Given the description of an element on the screen output the (x, y) to click on. 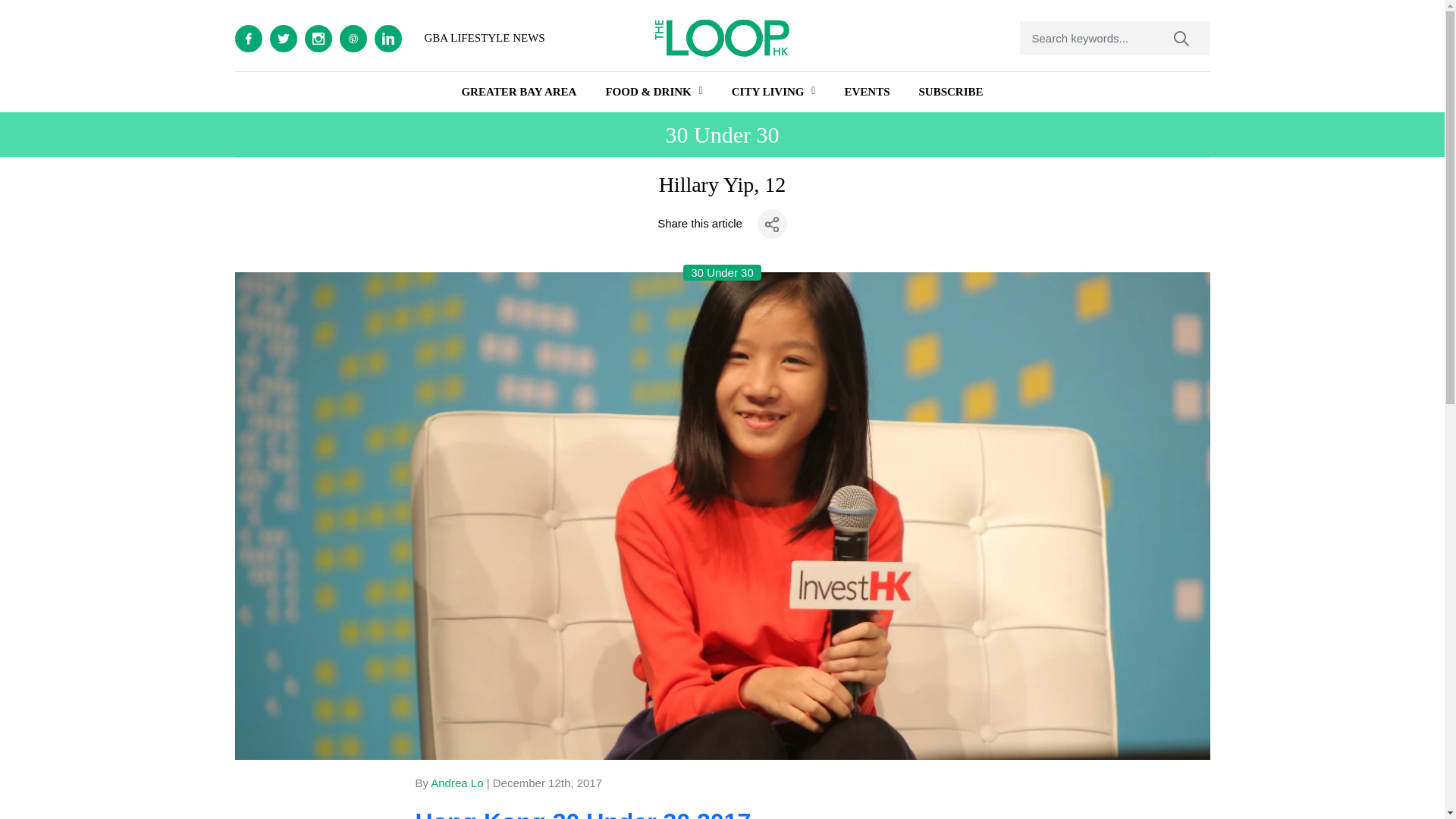
GREATER BAY AREA (518, 92)
EVENTS (866, 92)
Andrea Lo (456, 782)
CITY LIVING (768, 92)
Hong Kong 30 Under 30 2017 (582, 813)
30 Under 30 (722, 272)
SUBSCRIBE (951, 92)
